Given the description of an element on the screen output the (x, y) to click on. 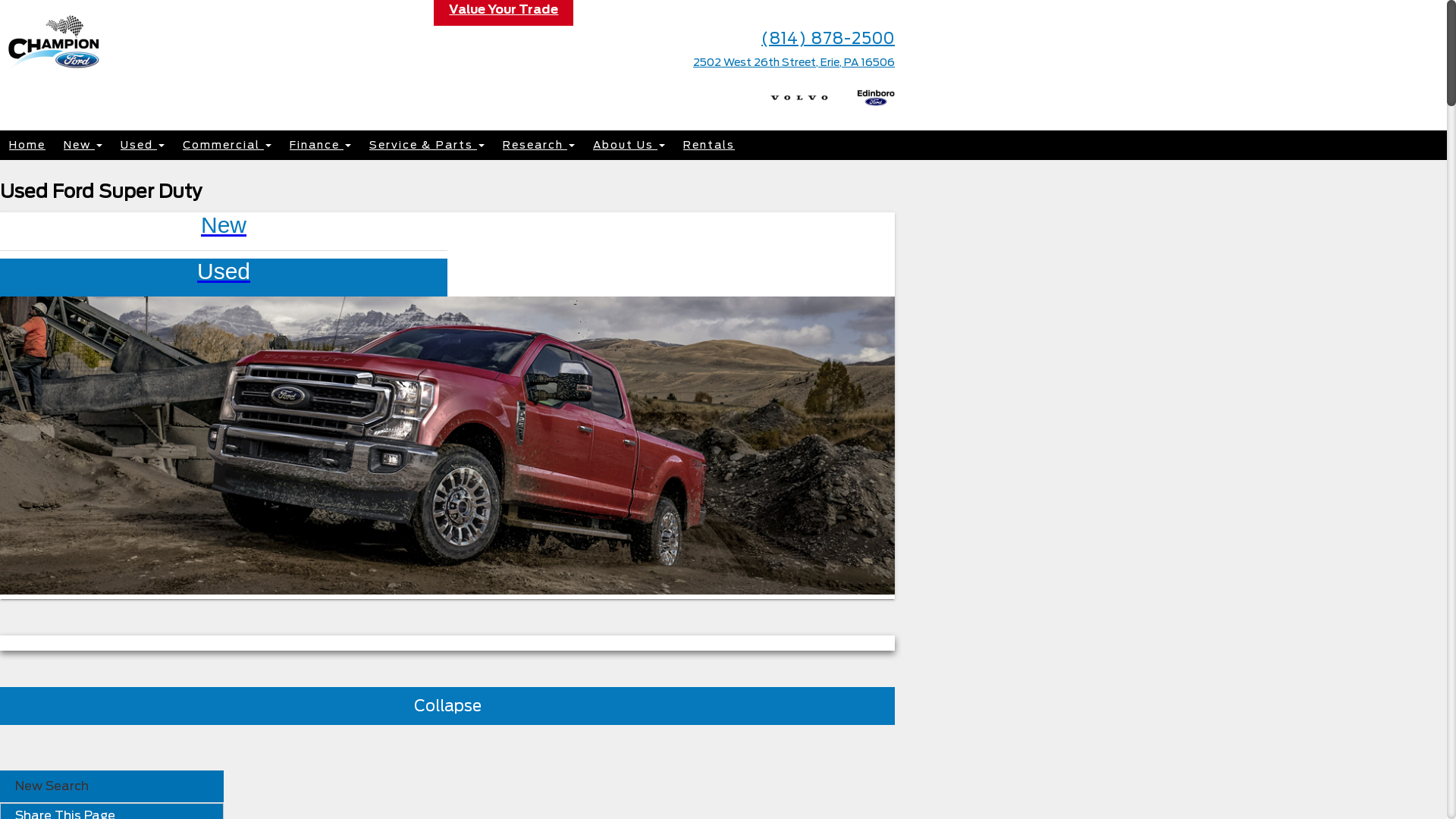
Research Element type: text (538, 145)
Commercial Element type: text (226, 145)
Service & Parts Element type: text (426, 145)
New Element type: text (82, 145)
Home Element type: text (27, 145)
Rentals Element type: text (708, 145)
used ford f-250-super-duty Element type: hover (447, 445)
About Us Element type: text (628, 145)
Champion Ford Dealer logo Element type: hover (54, 72)
(814) 878-2500 Element type: text (827, 38)
Collapse Element type: text (447, 705)
Used Element type: text (447, 277)
2502 West 26th Street, Erie, PA 16506 Element type: text (793, 62)
Finance Element type: text (320, 145)
Used Element type: text (142, 145)
New Element type: text (447, 231)
